Given the description of an element on the screen output the (x, y) to click on. 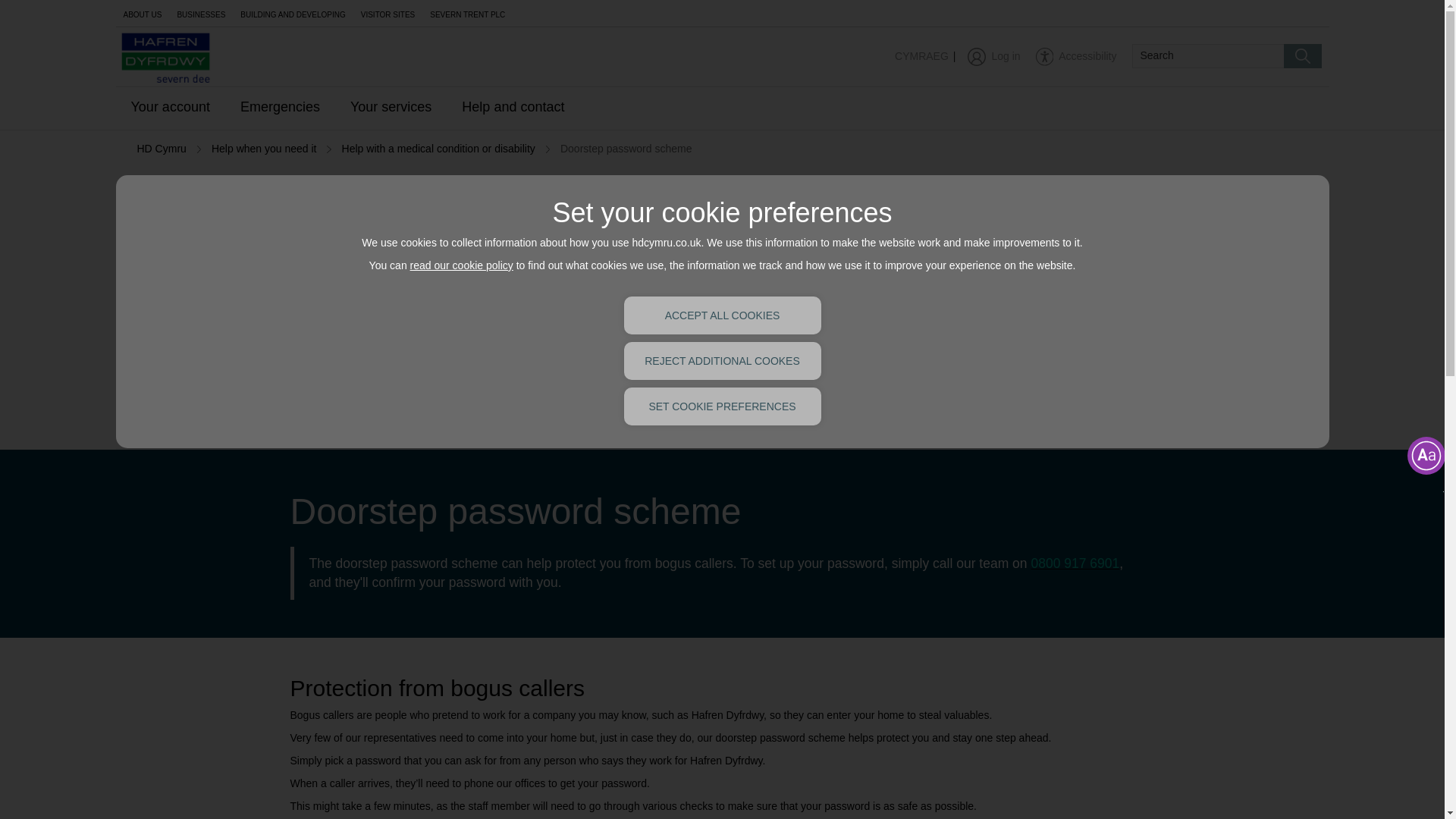
BUSINESSES (200, 13)
Read our cookie policy (461, 265)
ABOUT US (141, 13)
BUILDING AND DEVELOPING (292, 13)
Your account (169, 107)
VISITOR SITES (388, 13)
Emergencies (279, 107)
Call care and assistance team (1074, 563)
